Given the description of an element on the screen output the (x, y) to click on. 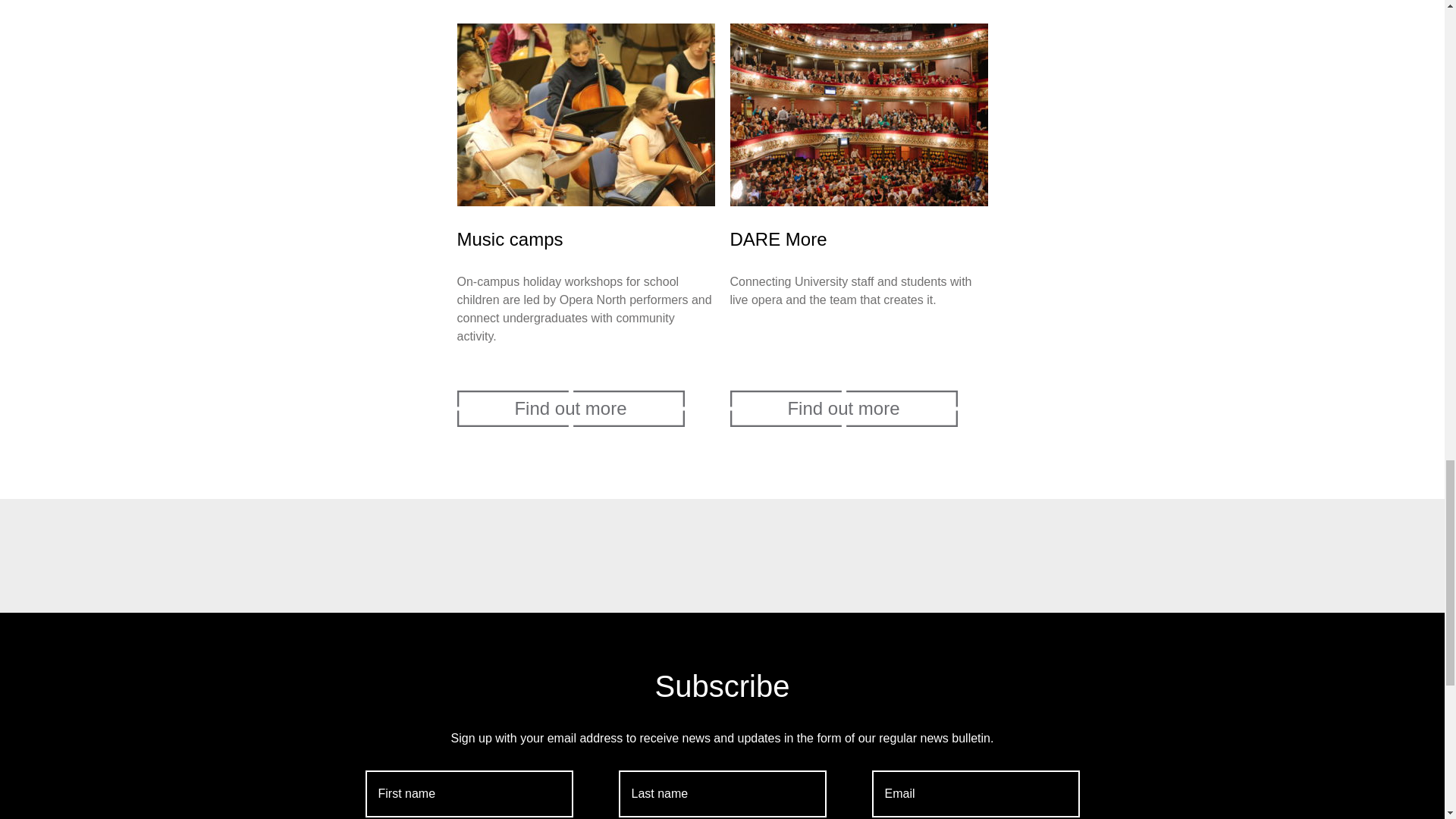
Find out more (570, 408)
Find out more (842, 408)
